Given the description of an element on the screen output the (x, y) to click on. 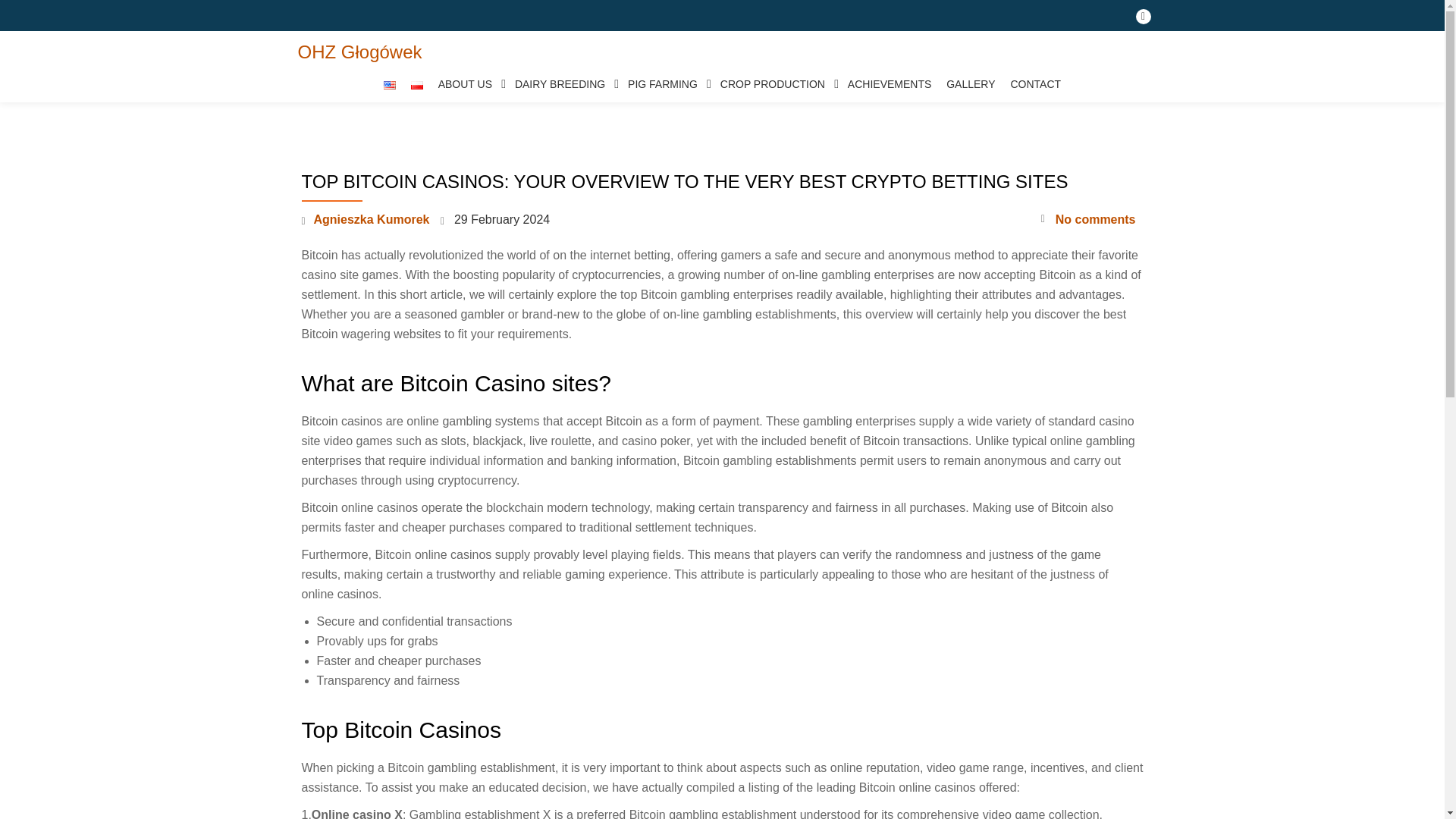
GALLERY (970, 84)
CONTACT (1035, 84)
PIG FARMING (666, 84)
DAIRY BREEDING (563, 84)
No comments (1088, 219)
ACHIEVEMENTS (889, 84)
fa-facebook (1143, 19)
Agnieszka Kumorek (371, 219)
ABOUT US (468, 84)
CROP PRODUCTION (776, 84)
